Given the description of an element on the screen output the (x, y) to click on. 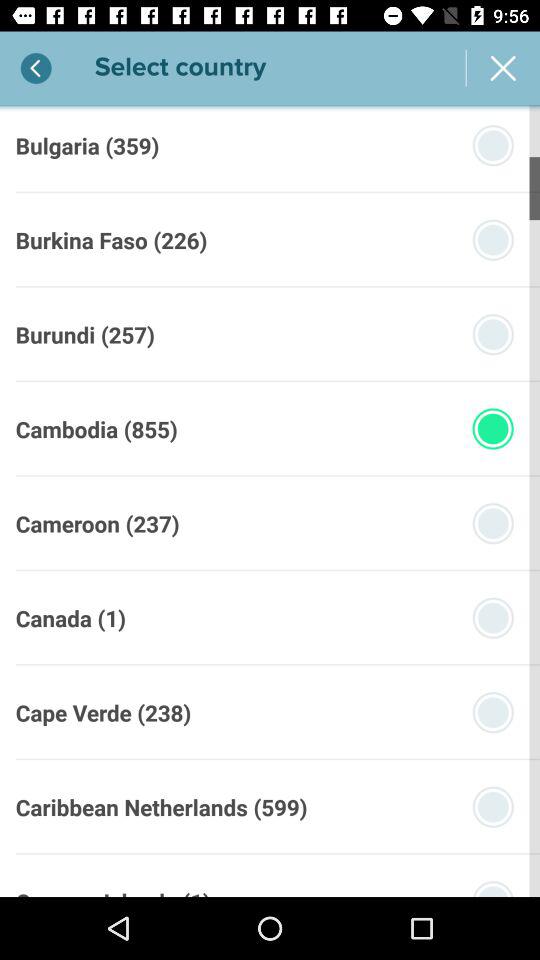
click the caribbean netherlands (599) (161, 806)
